Given the description of an element on the screen output the (x, y) to click on. 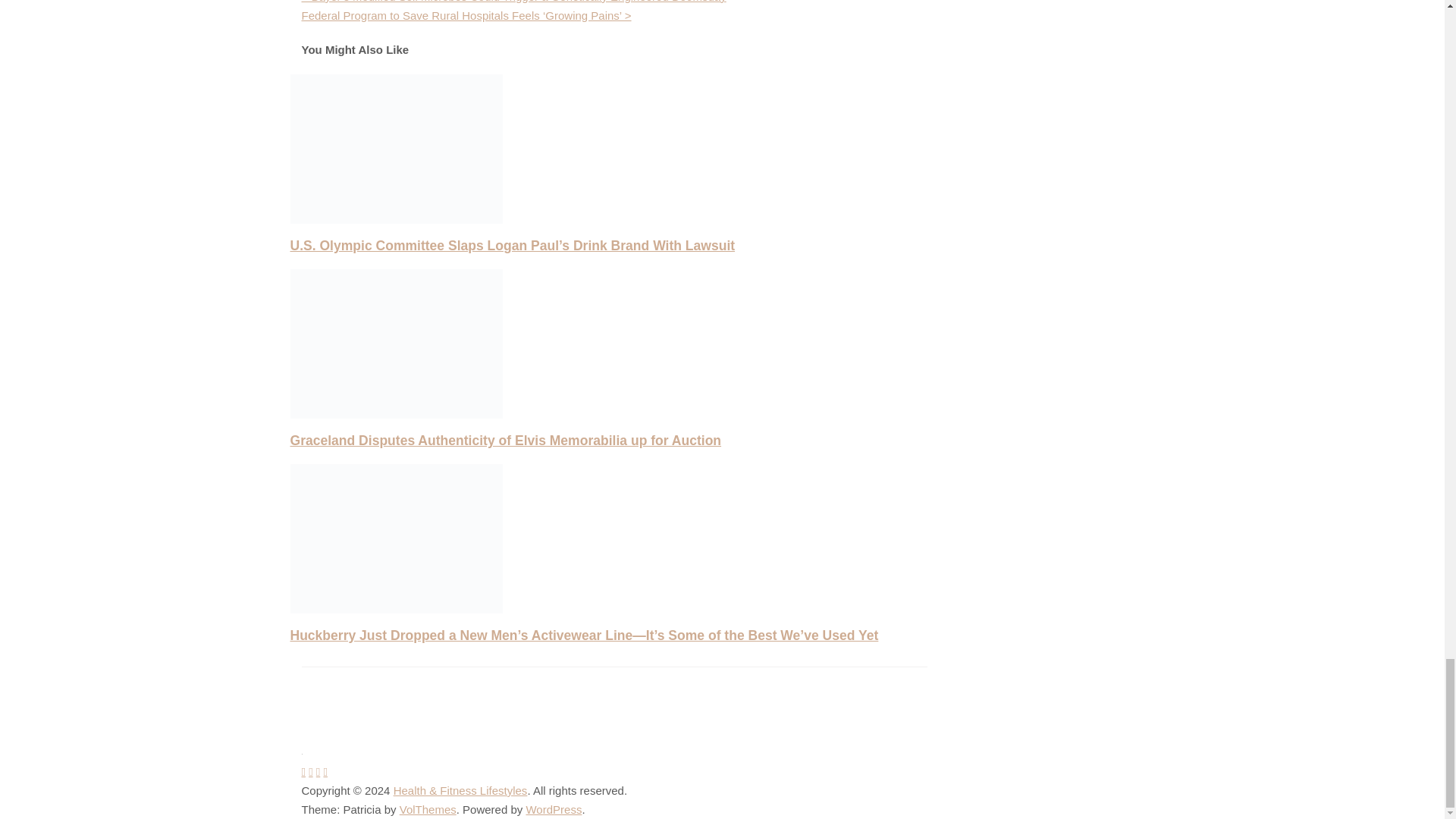
WordPress (552, 809)
VolThemes (427, 809)
